Given the description of an element on the screen output the (x, y) to click on. 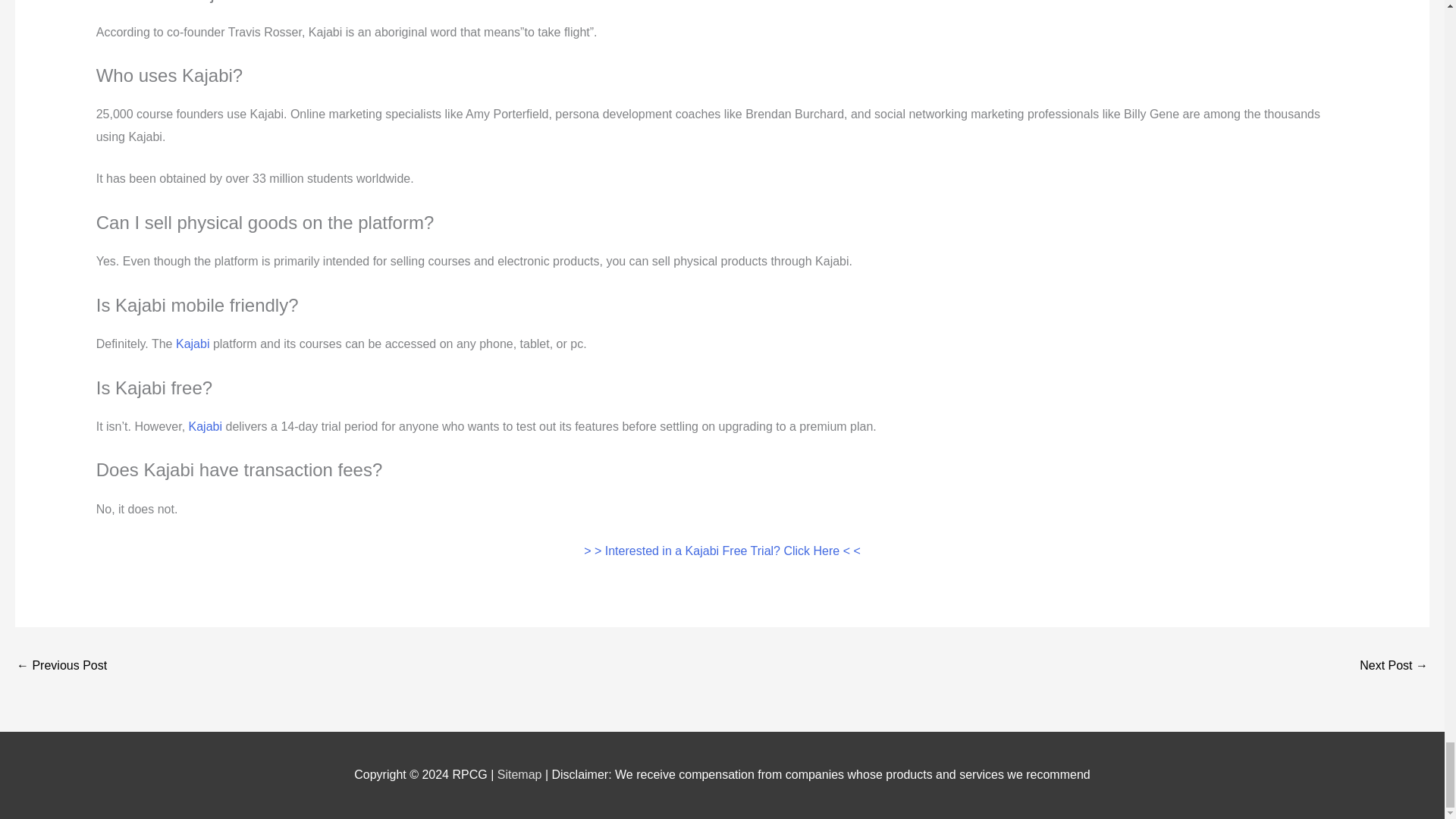
Kajabi (205, 426)
Savvy System Kajabi (61, 666)
Kajabi (192, 343)
Kajabi vs Fedora (1393, 666)
Sitemap (520, 774)
